Given the description of an element on the screen output the (x, y) to click on. 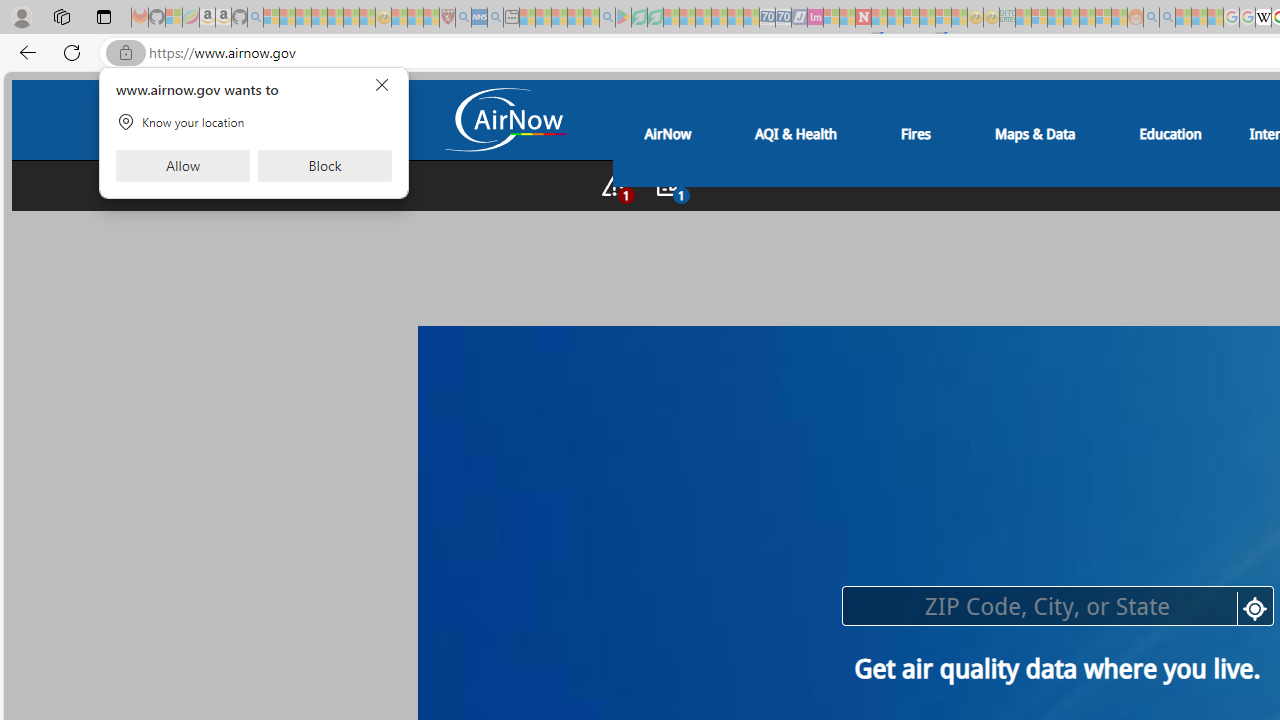
utah sues federal government - Search - Sleeping (495, 17)
Class: main-link dropbtn-nav-link (1170, 133)
ZIP Code, City, or State (1056, 605)
